Given the description of an element on the screen output the (x, y) to click on. 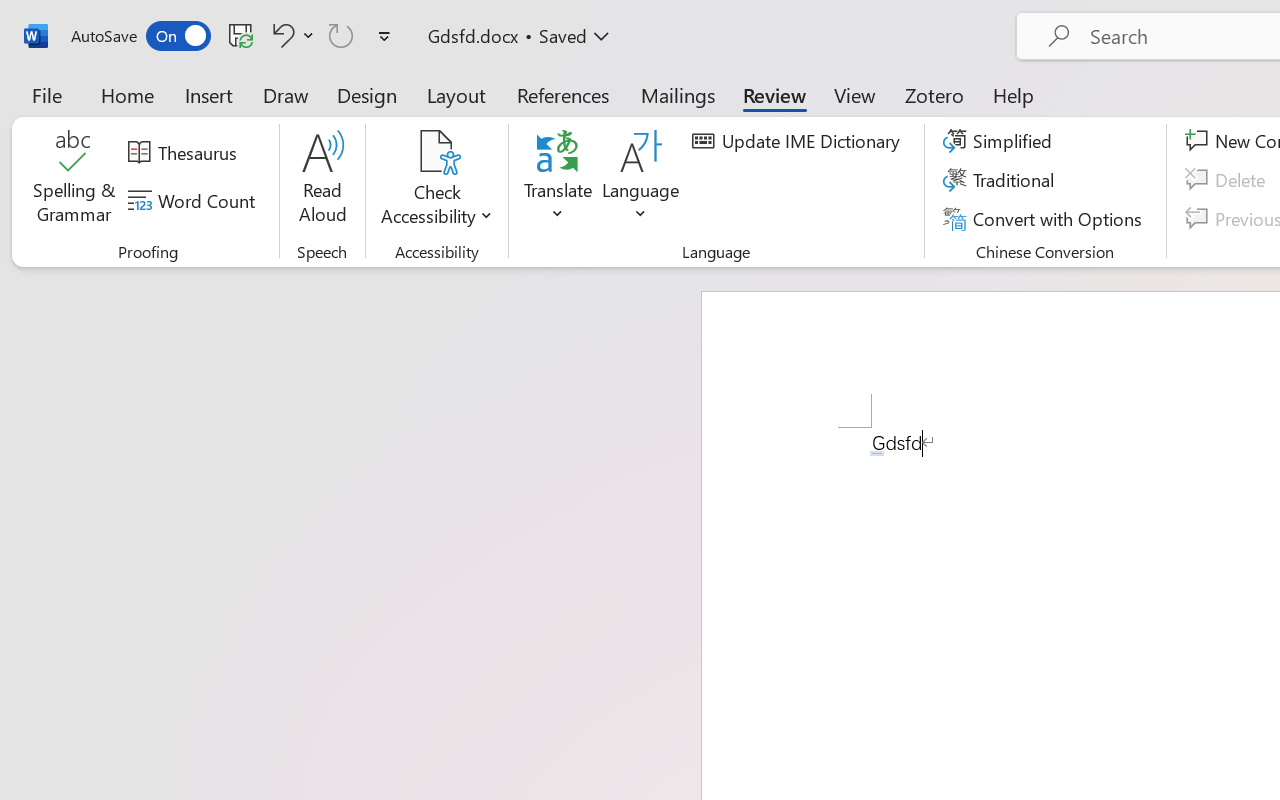
Update IME Dictionary... (799, 141)
Check Accessibility (436, 179)
Spelling & Grammar (74, 180)
Can't Repeat (341, 35)
Thesaurus... (185, 153)
Traditional (1001, 179)
